Given the description of an element on the screen output the (x, y) to click on. 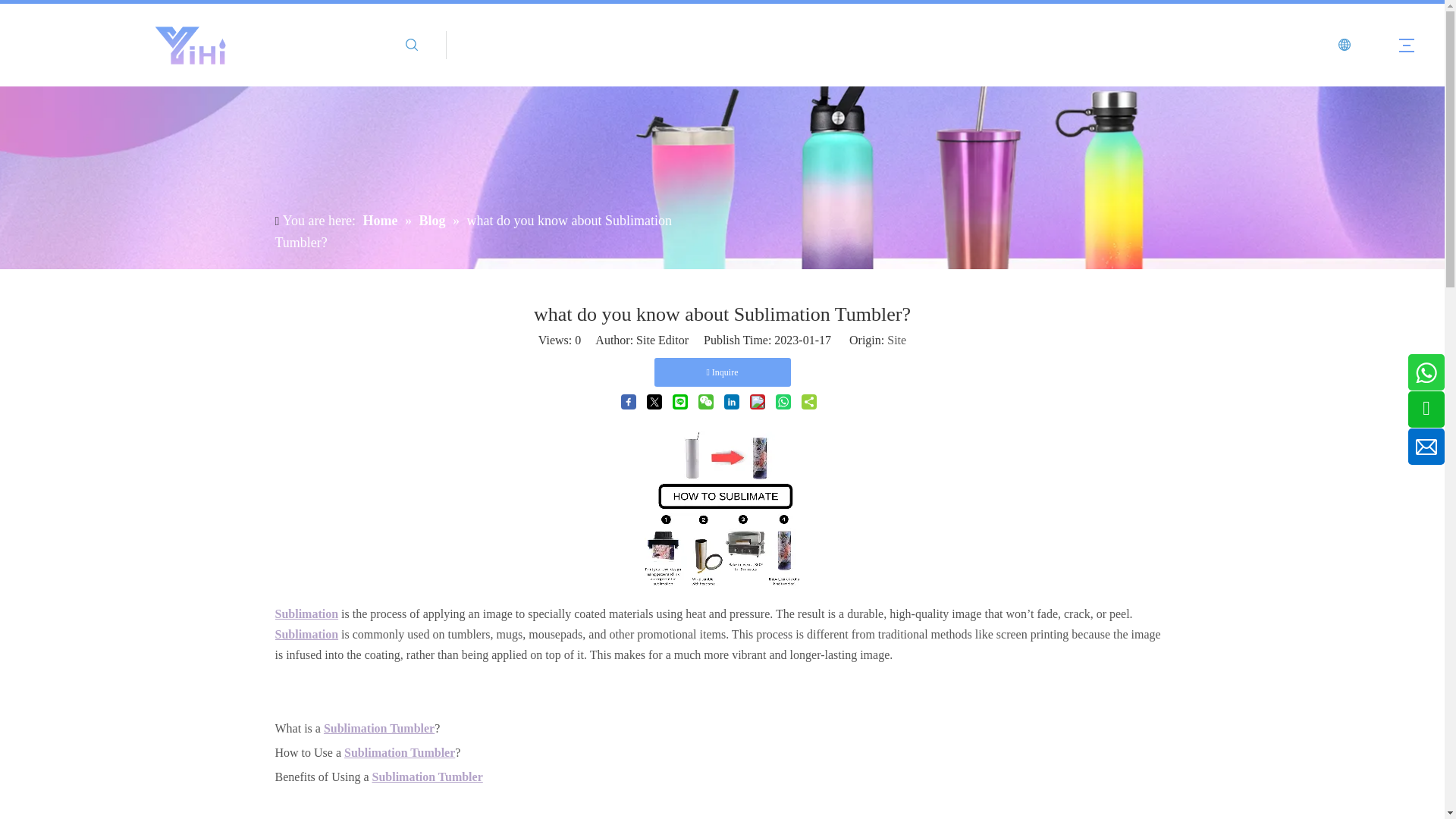
Site (895, 339)
Inquire (721, 371)
Sublimation Tumbler (378, 727)
Sublimation (306, 613)
Sublimation (306, 634)
Blog (433, 220)
Home (381, 220)
